Given the description of an element on the screen output the (x, y) to click on. 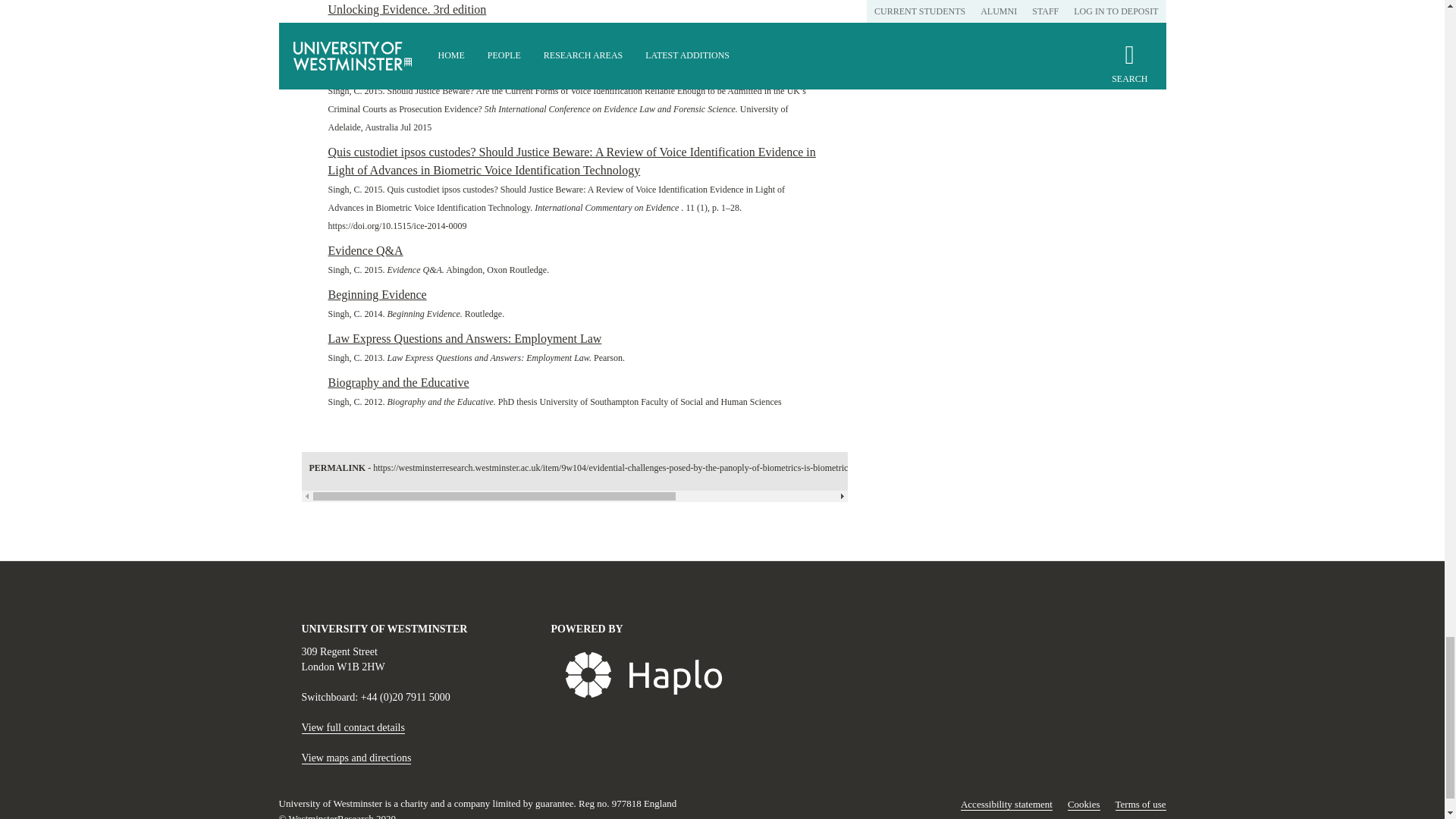
Unlocking Evidence. 3rd edition (406, 9)
